Given the description of an element on the screen output the (x, y) to click on. 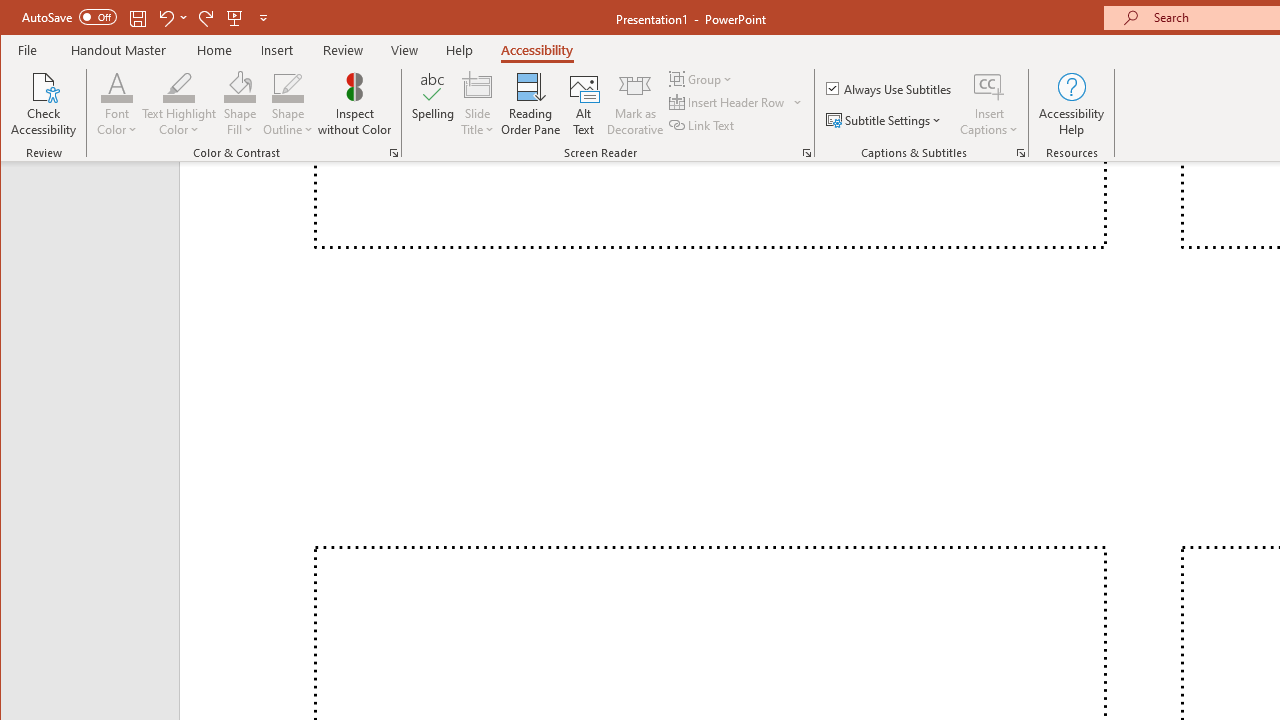
Check Accessibility (43, 104)
Shape Outline Blue, Accent 1 (288, 86)
